Given the description of an element on the screen output the (x, y) to click on. 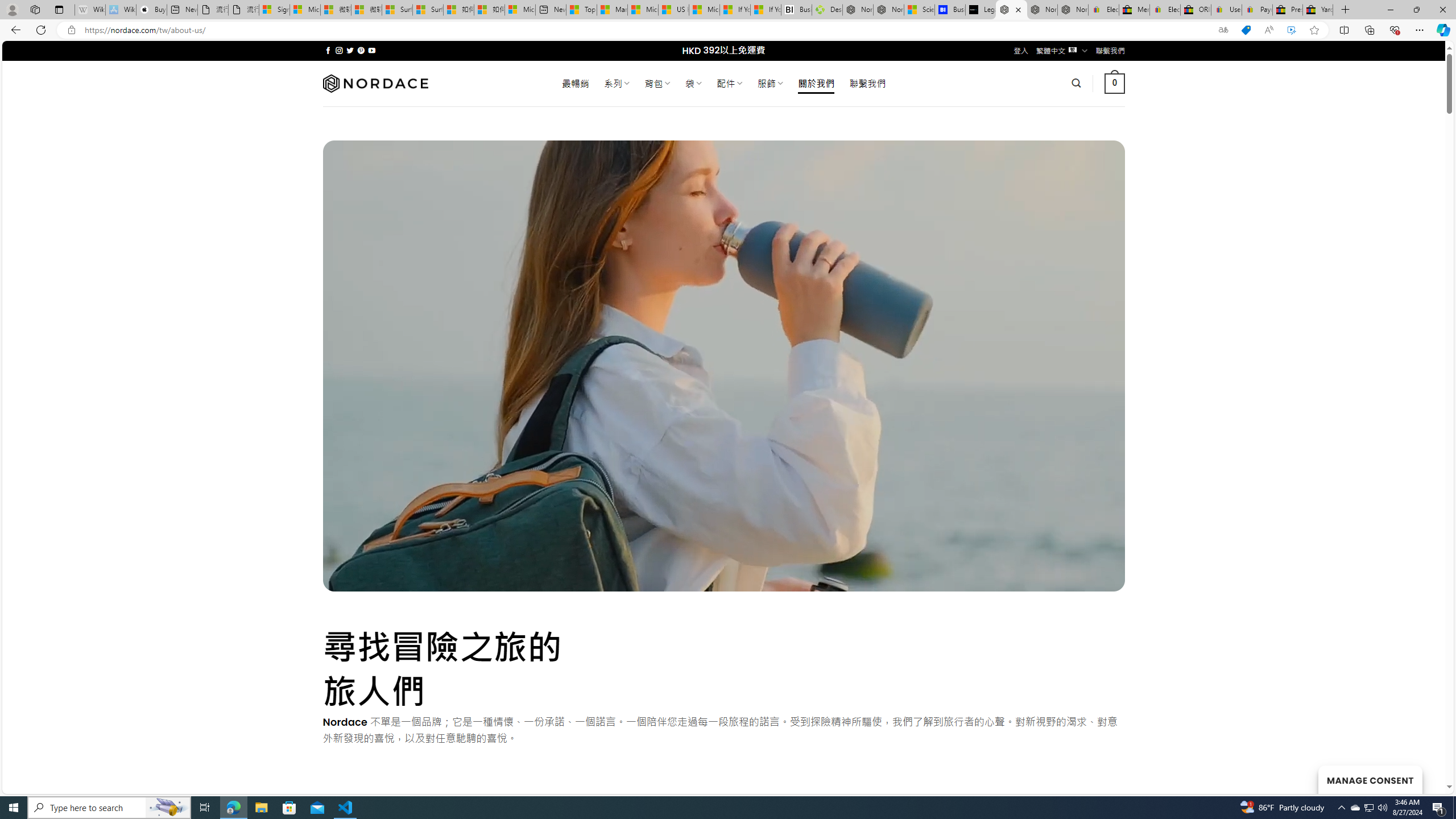
Yard, Garden & Outdoor Living (1317, 9)
Follow on Instagram (338, 50)
Nordace - Summer Adventures 2024 (857, 9)
